Given the description of an element on the screen output the (x, y) to click on. 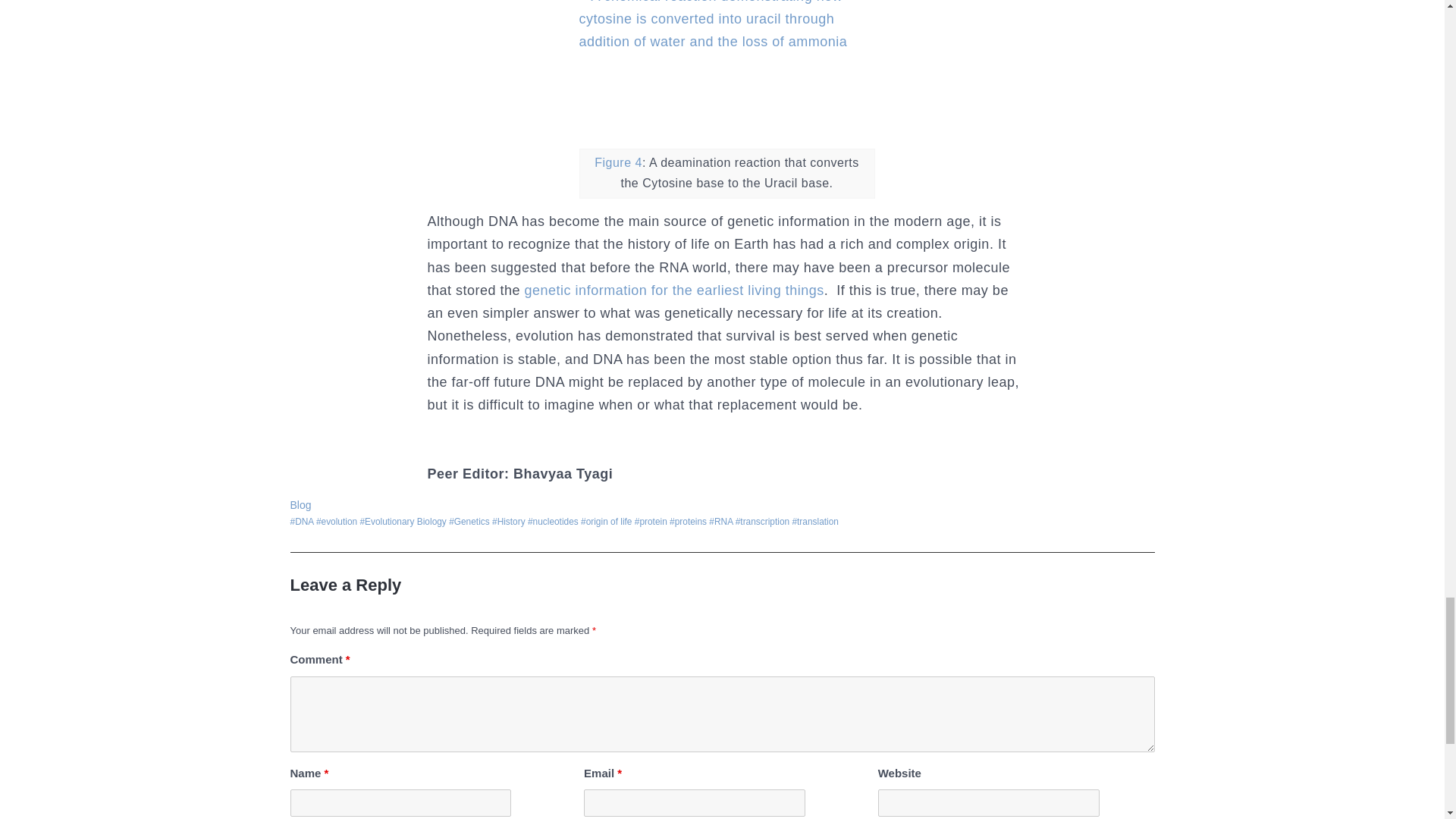
DNA (301, 521)
Blog (300, 504)
genetic information for the earliest living things (671, 290)
Figure 4 (618, 162)
